Given the description of an element on the screen output the (x, y) to click on. 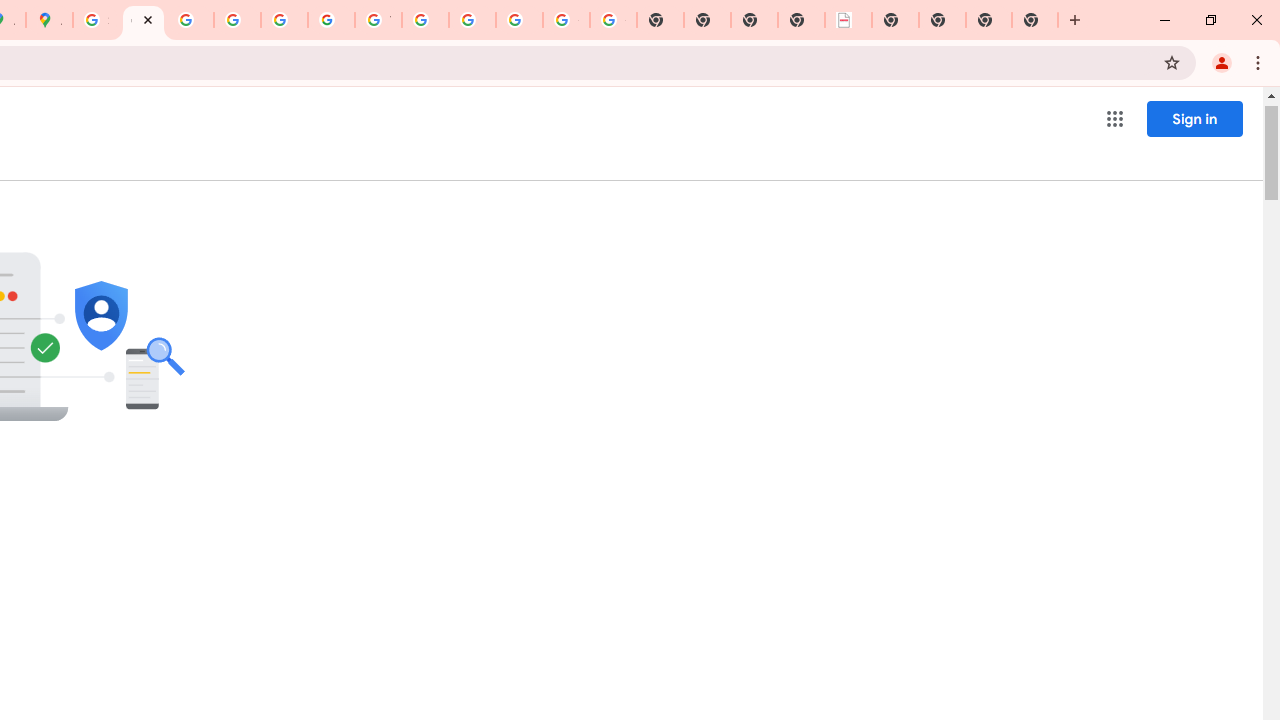
Sign in - Google Accounts (96, 20)
LAAD Defence & Security 2025 | BAE Systems (848, 20)
Privacy Help Center - Policies Help (237, 20)
New Tab (1035, 20)
